Given the description of an element on the screen output the (x, y) to click on. 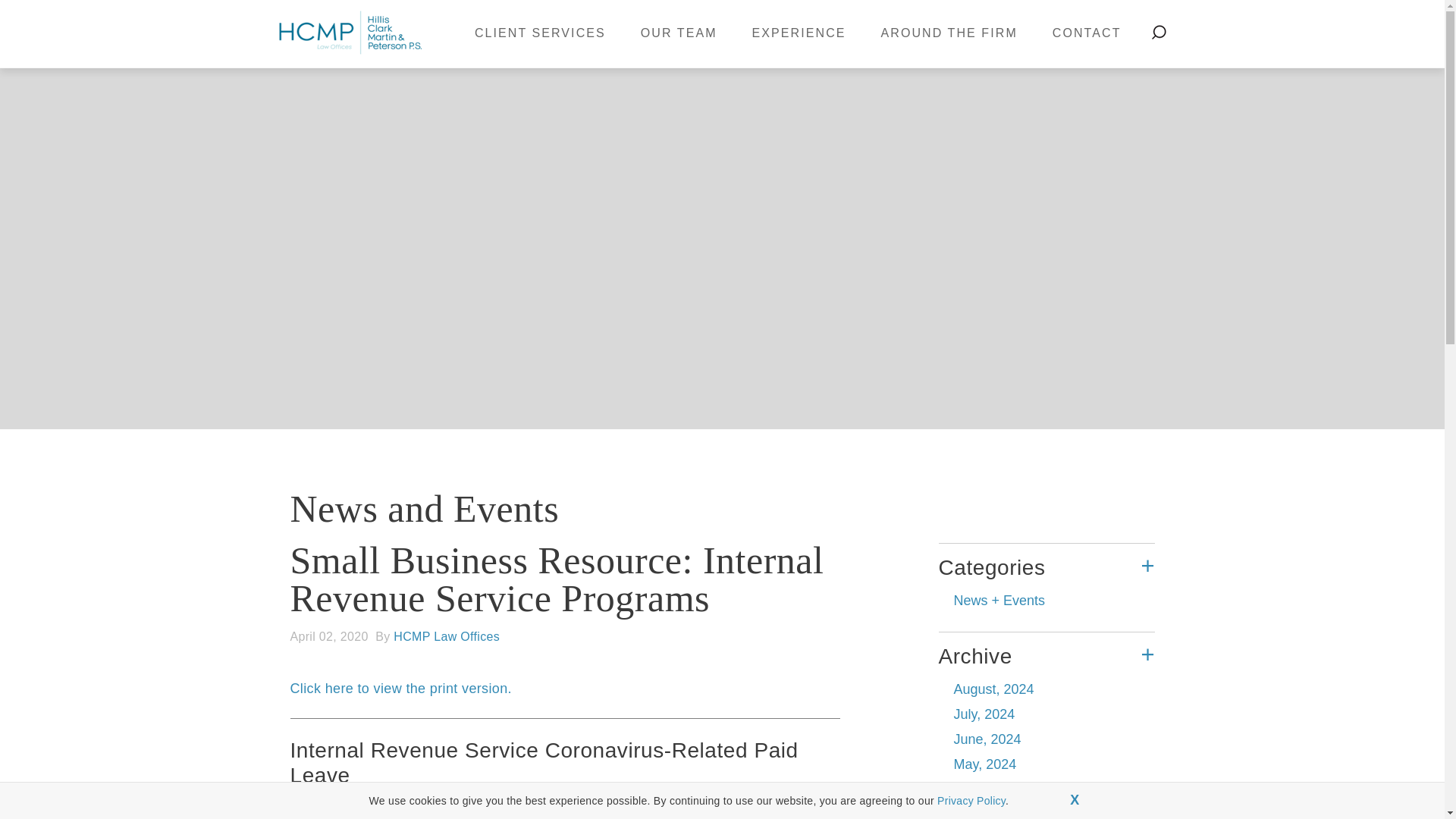
CLIENT SERVICES (539, 33)
HCMP Law Offices (350, 31)
OUR TEAM (678, 33)
EXPERIENCE (798, 33)
AROUND THE FIRM (948, 33)
CONTACT (1086, 33)
Client Services (539, 33)
Search (1158, 32)
Experience (798, 33)
Our Team (678, 33)
